Given the description of an element on the screen output the (x, y) to click on. 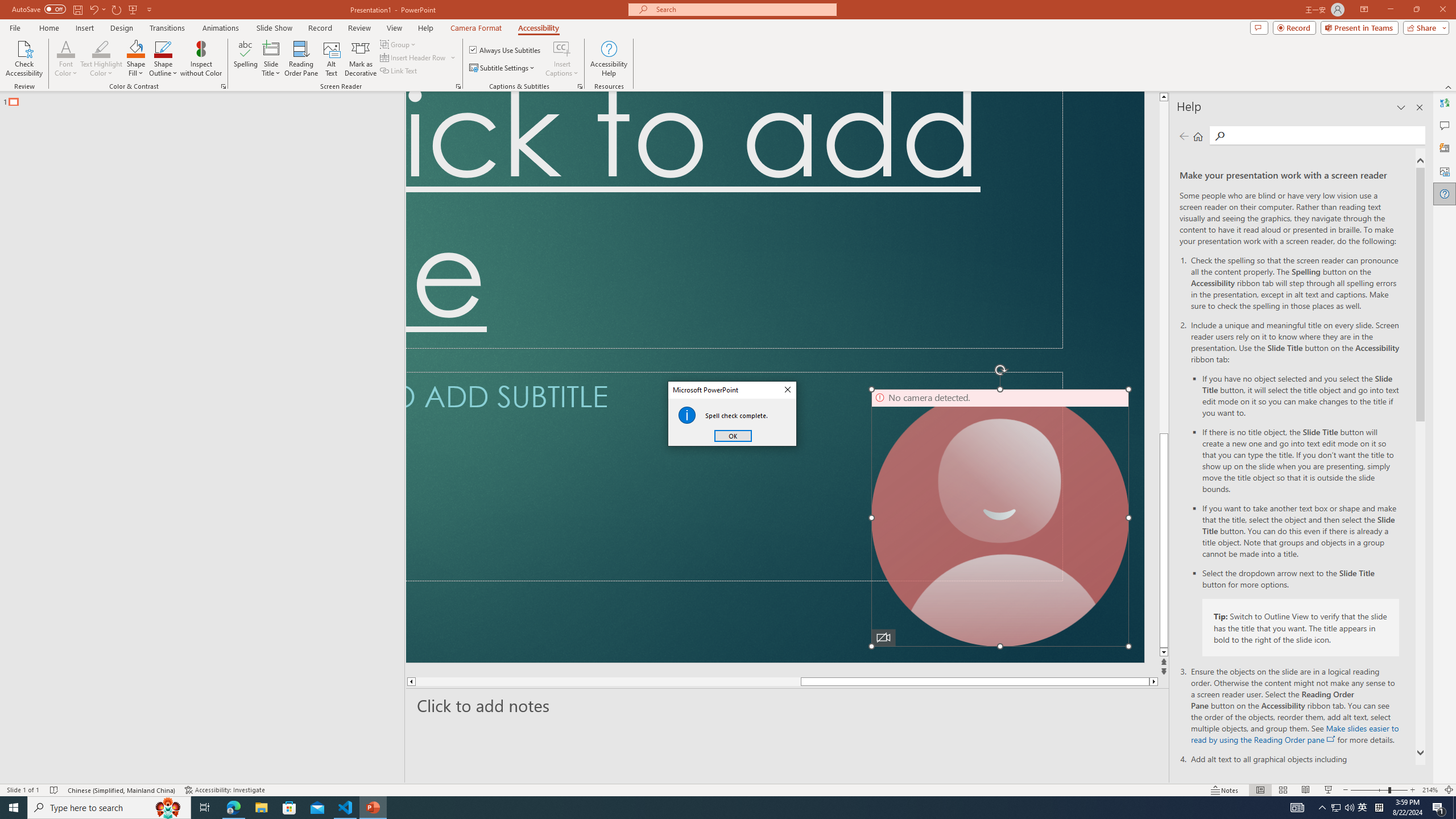
Camera 8, No camera detected. (999, 517)
Inspect without Color (201, 58)
Previous page (1183, 136)
Reading Order Pane (301, 58)
